Given the description of an element on the screen output the (x, y) to click on. 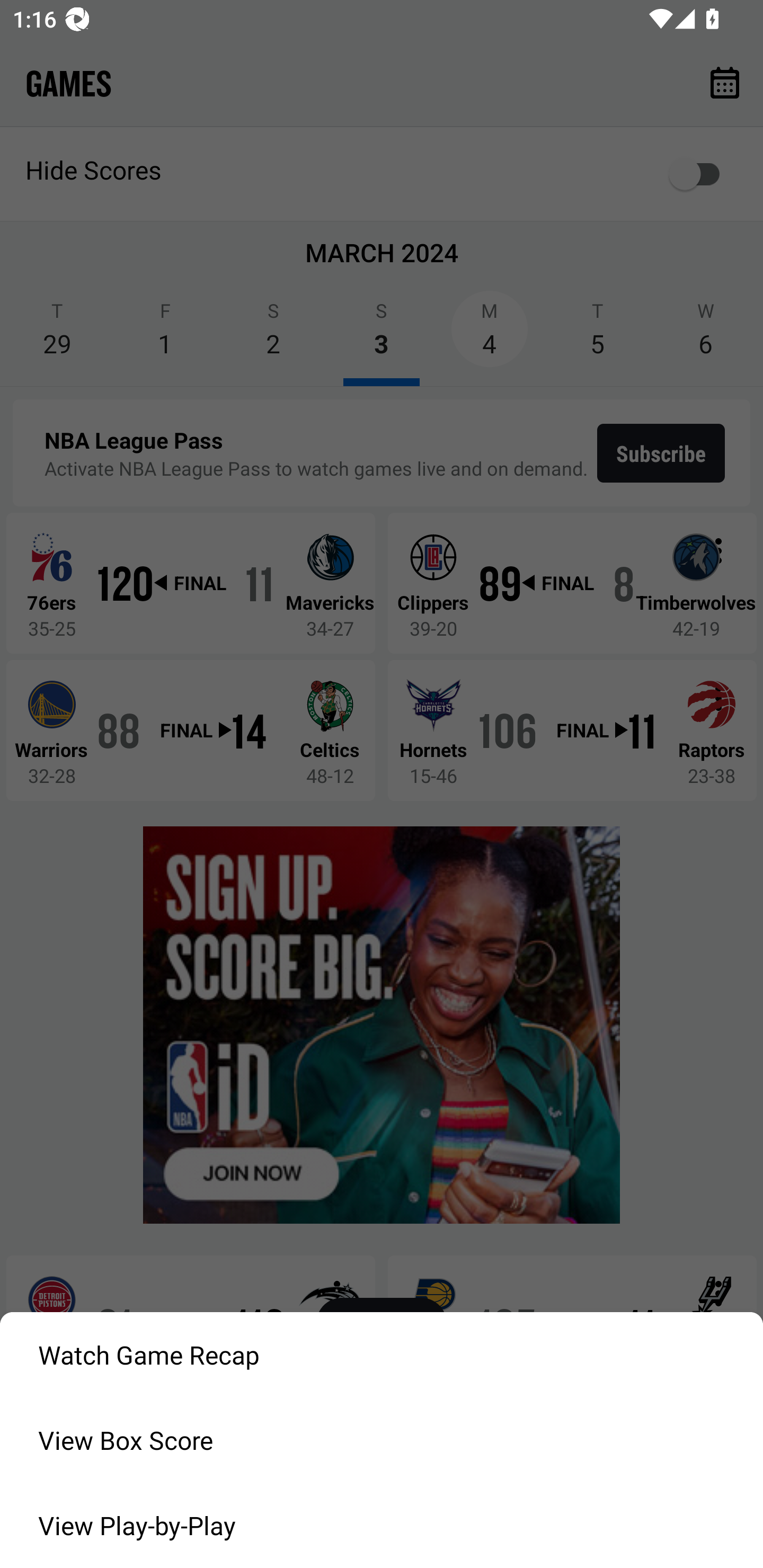
Watch Game Recap (381, 1354)
View Box Score (381, 1440)
View Play-by-Play (381, 1525)
